Given the description of an element on the screen output the (x, y) to click on. 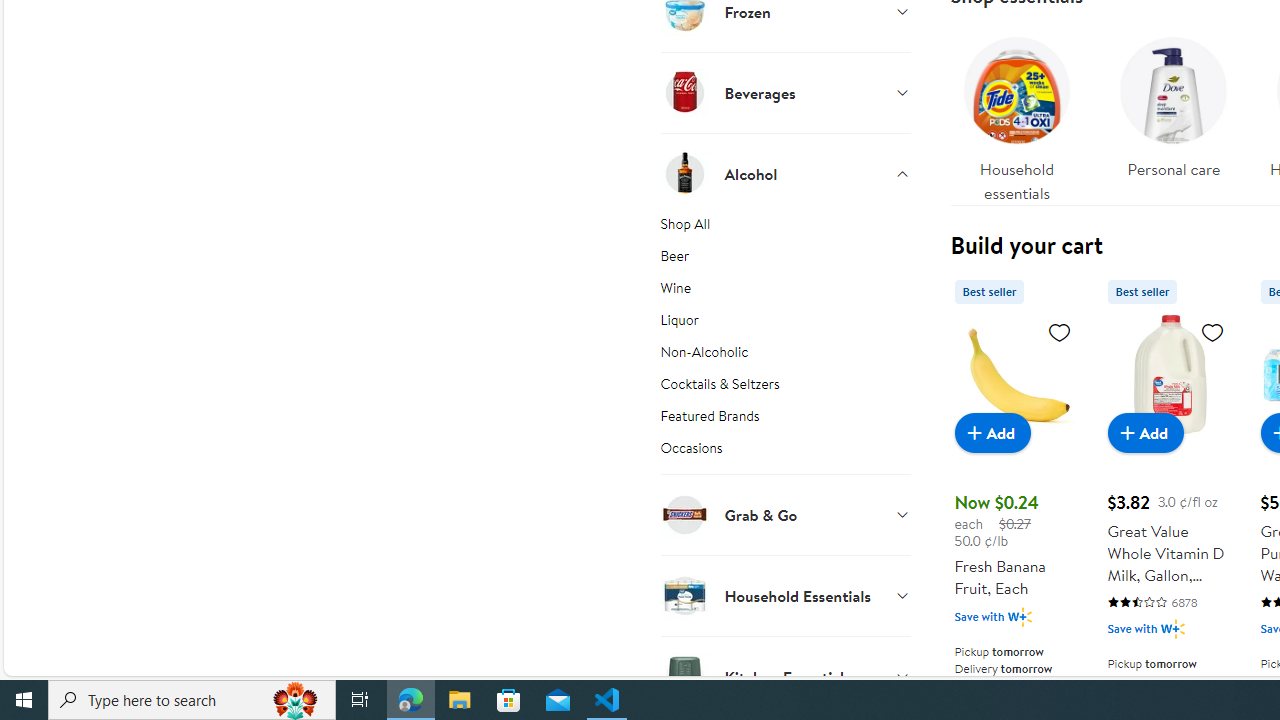
Beer (785, 260)
Featured Brands (785, 420)
Sign in to add to Favorites list, Fresh Banana Fruit, Each (1059, 331)
Walmart Plus (1172, 628)
Fresh Banana Fruit, Each (1016, 374)
Beverages (785, 92)
